Given the description of an element on the screen output the (x, y) to click on. 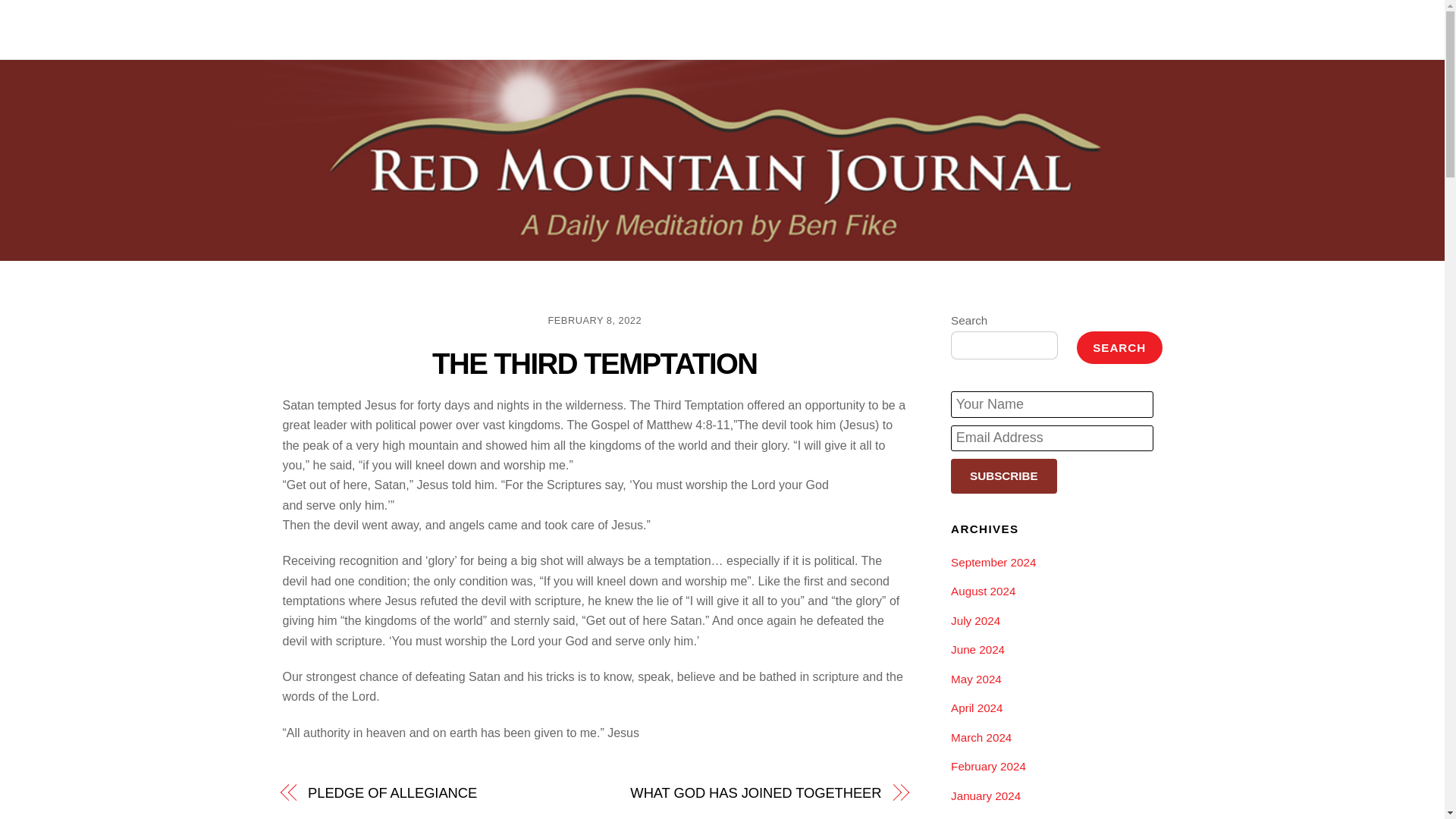
September 2024 (992, 562)
Home (894, 29)
About Our Journal (1046, 29)
SEARCH (1119, 347)
February 2024 (988, 766)
About Us (953, 29)
WHAT GOD HAS JOINED TOGETHEER (746, 792)
July 2024 (975, 620)
June 2024 (977, 649)
March 2024 (980, 737)
